Given the description of an element on the screen output the (x, y) to click on. 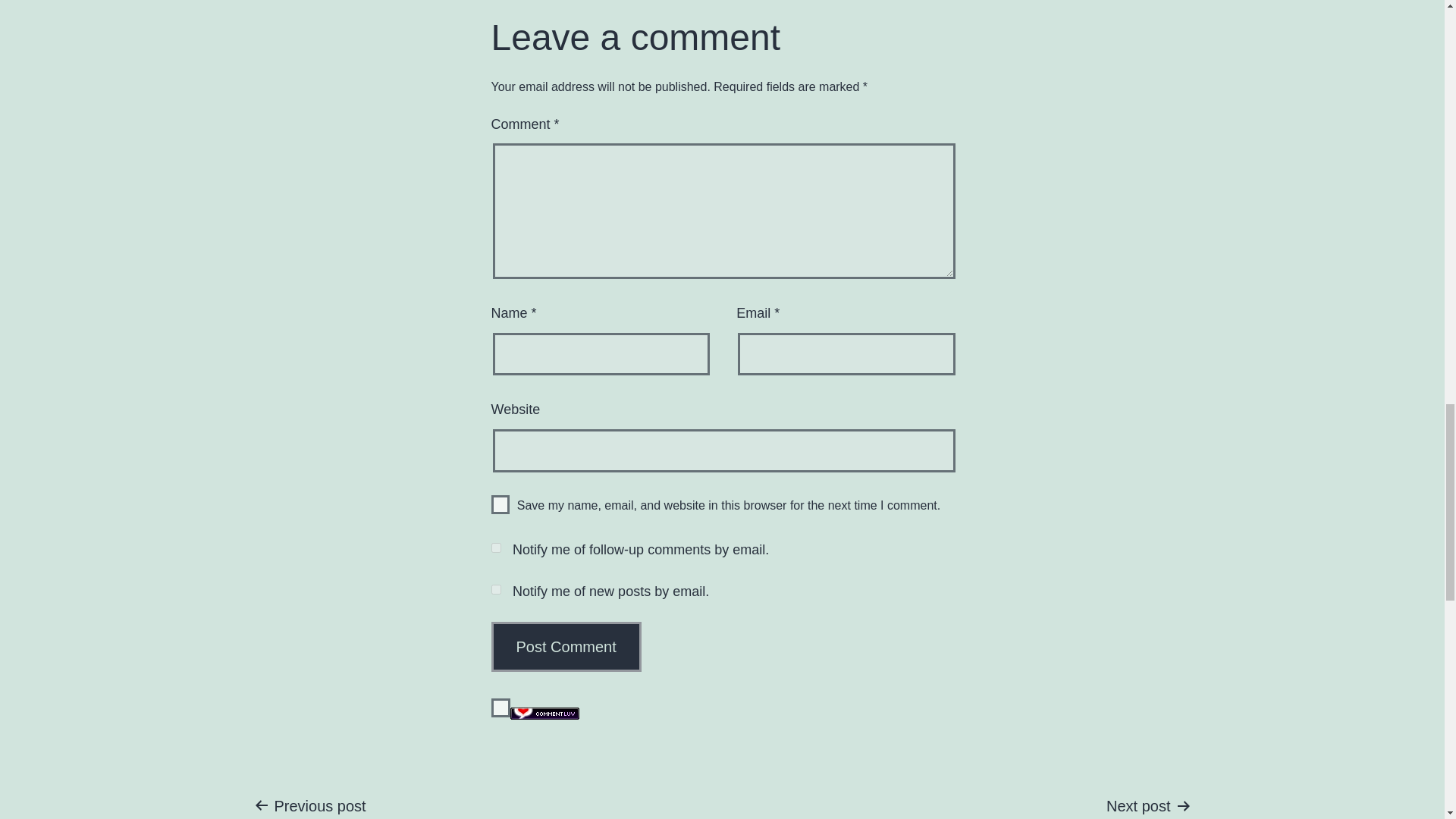
yes (1072, 806)
on (500, 504)
Post Comment (501, 707)
Post Comment (567, 646)
